Given the description of an element on the screen output the (x, y) to click on. 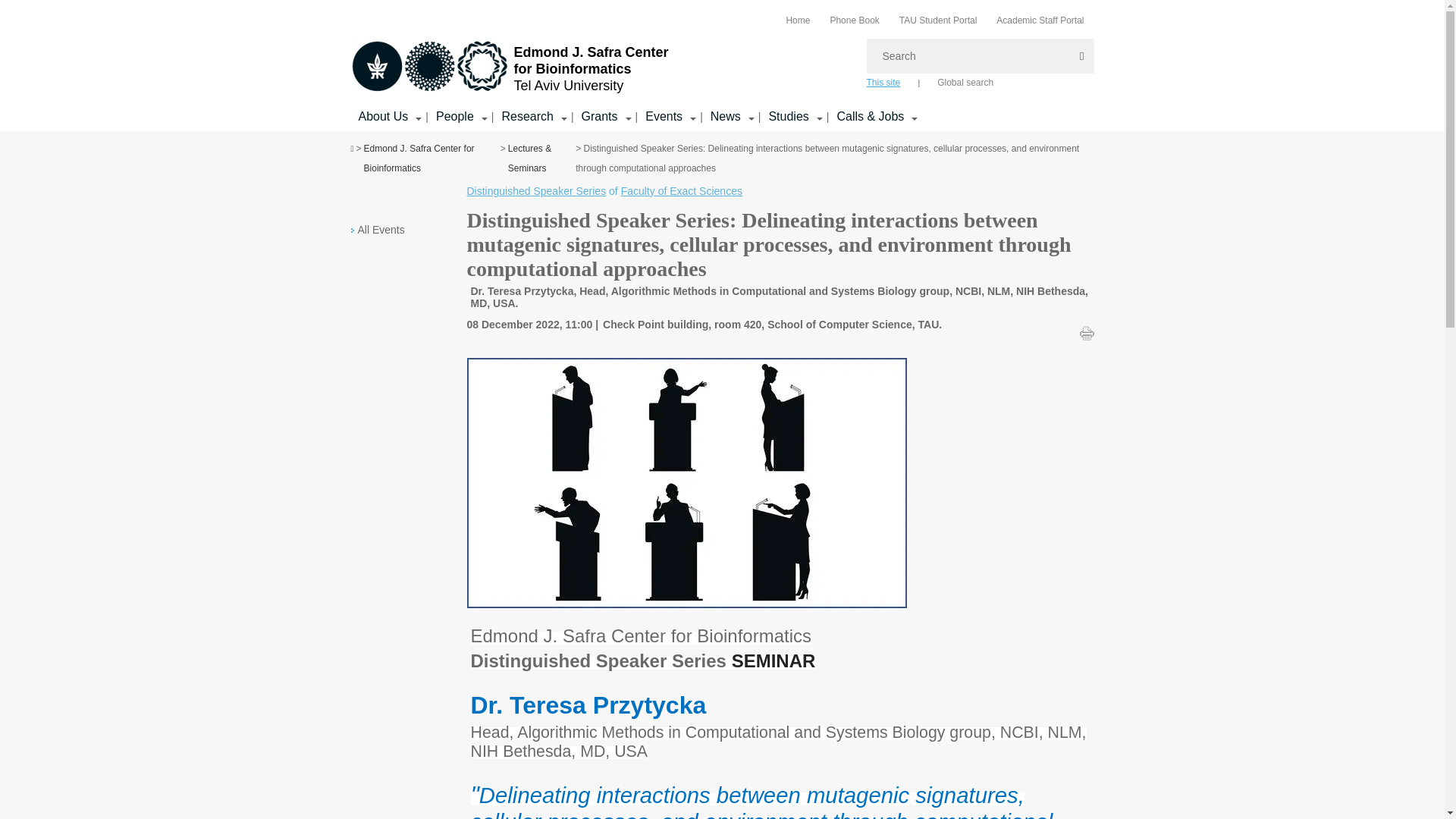
Academic Staff Portal (1039, 20)
TAU Student Portal (937, 20)
Distinguished Speaker Series (687, 482)
Grants (598, 116)
Home (797, 20)
About Us (382, 116)
Research (526, 116)
print (1087, 332)
